Given the description of an element on the screen output the (x, y) to click on. 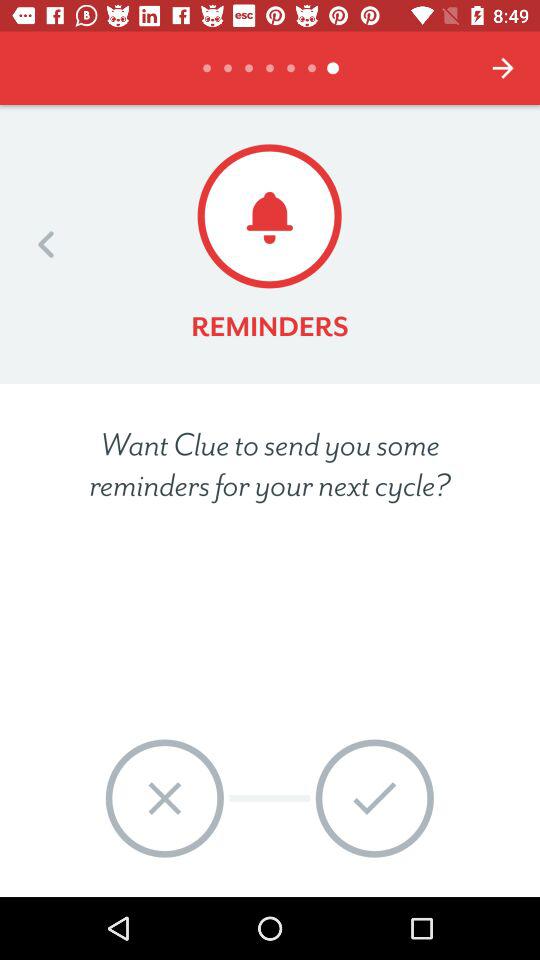
tap the ok item (374, 798)
